Given the description of an element on the screen output the (x, y) to click on. 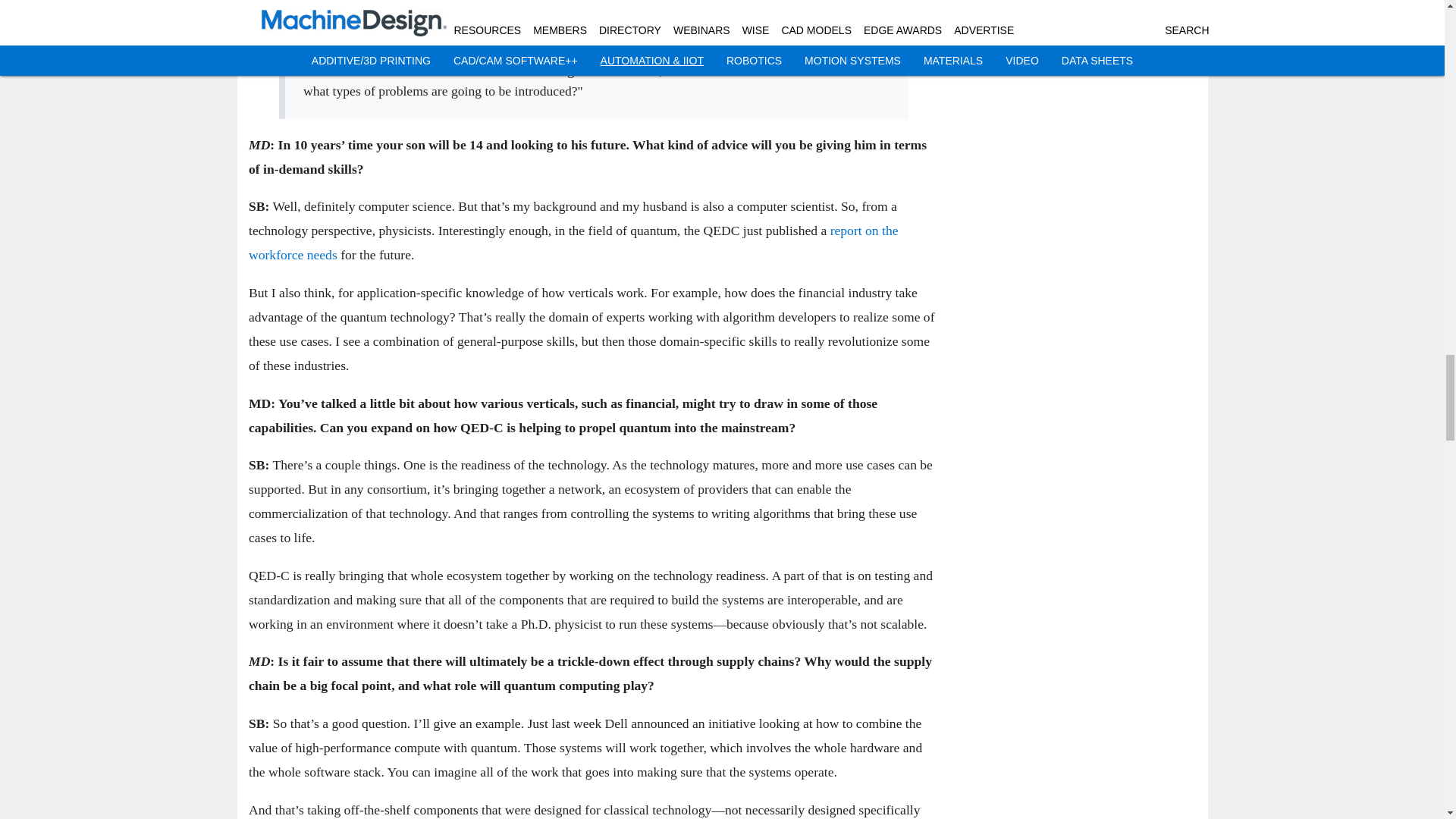
report on the workforce needs (573, 242)
